Given the description of an element on the screen output the (x, y) to click on. 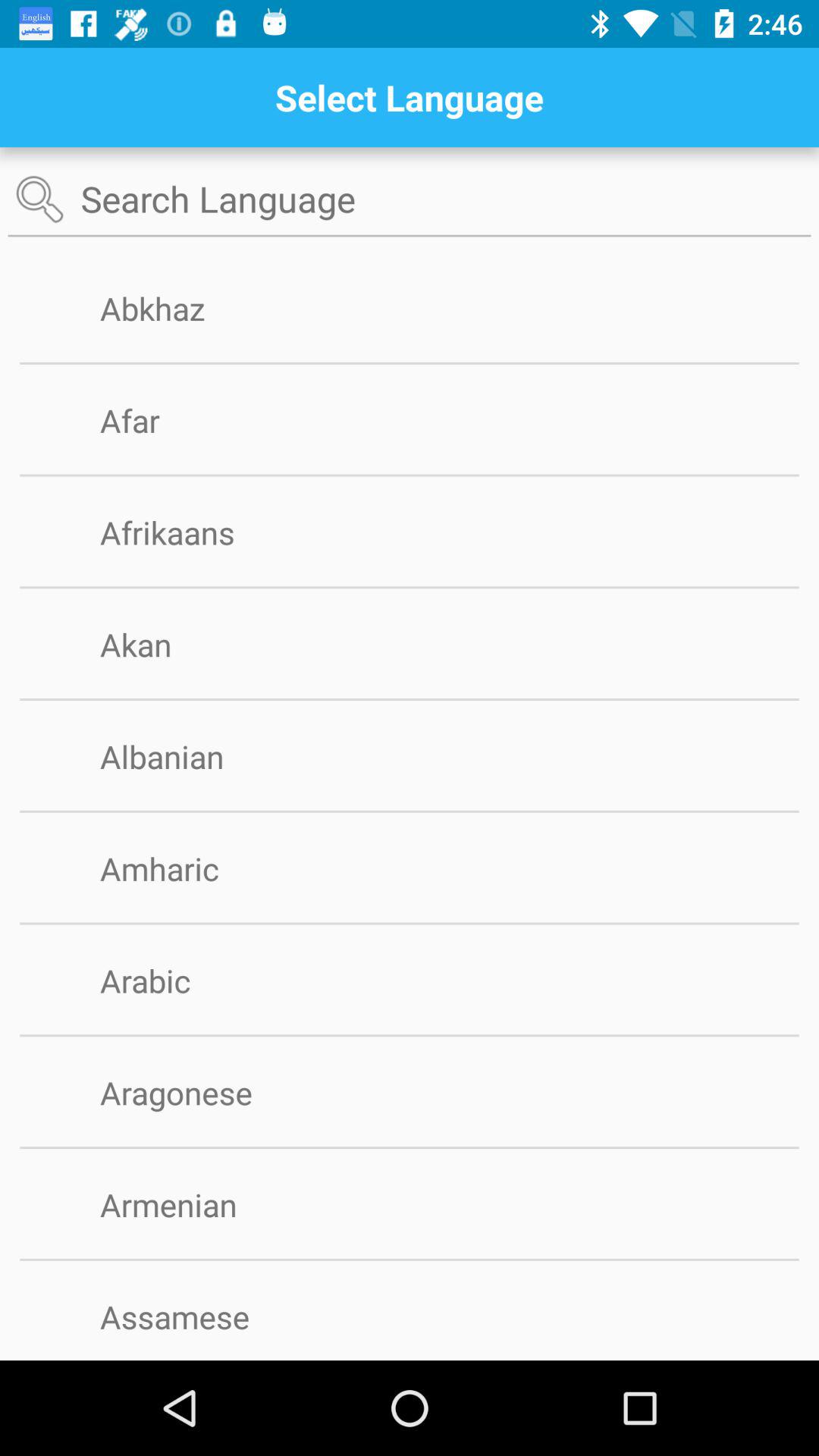
press icon below the aragonese (409, 1147)
